Given the description of an element on the screen output the (x, y) to click on. 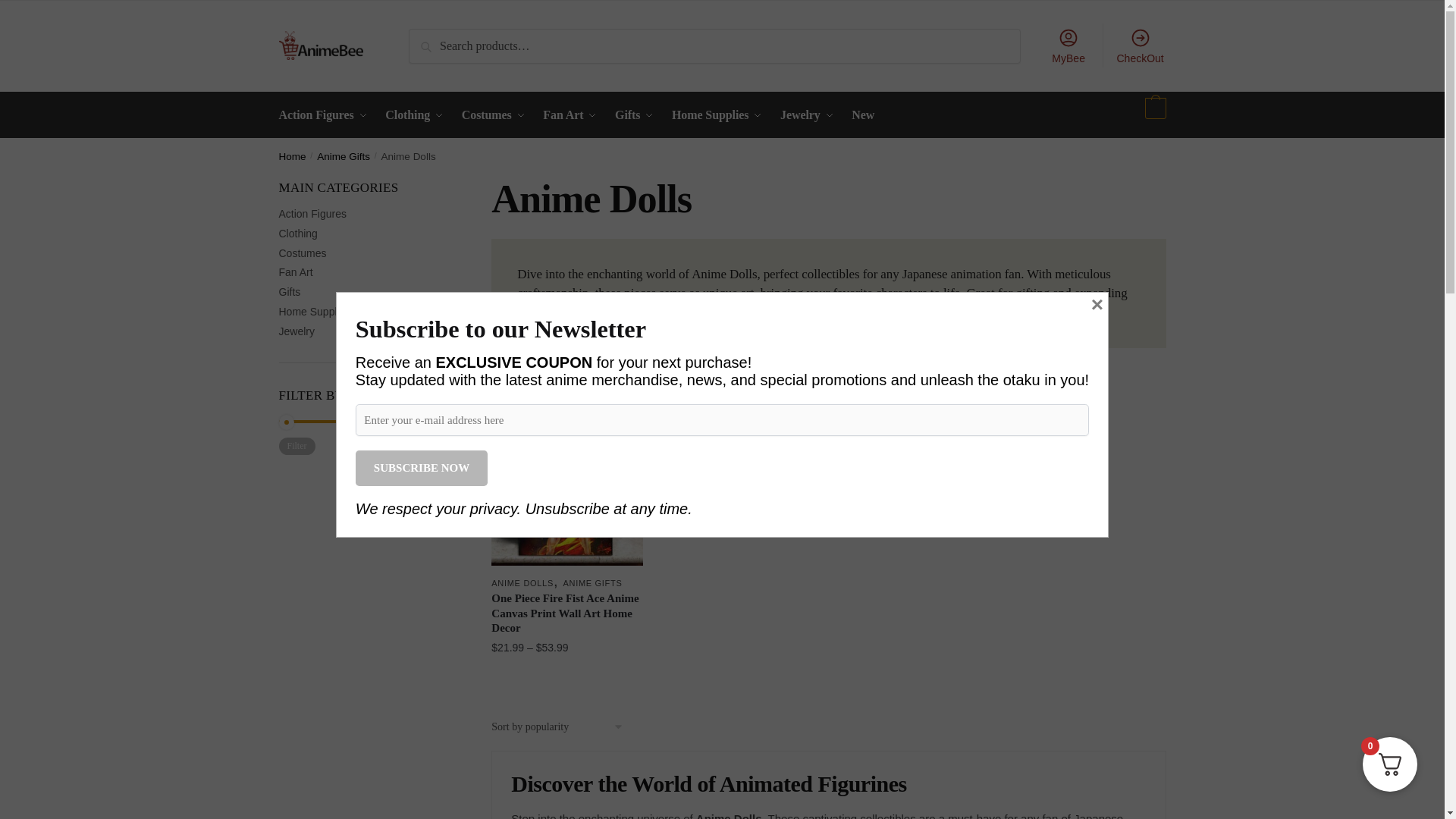
Costumes (492, 115)
Fan Art (570, 115)
Clothing (413, 115)
SUBSCRIBE NOW (421, 468)
Search (433, 41)
MyBee (1068, 45)
Action Figures (326, 115)
CheckOut (1139, 45)
